Given the description of an element on the screen output the (x, y) to click on. 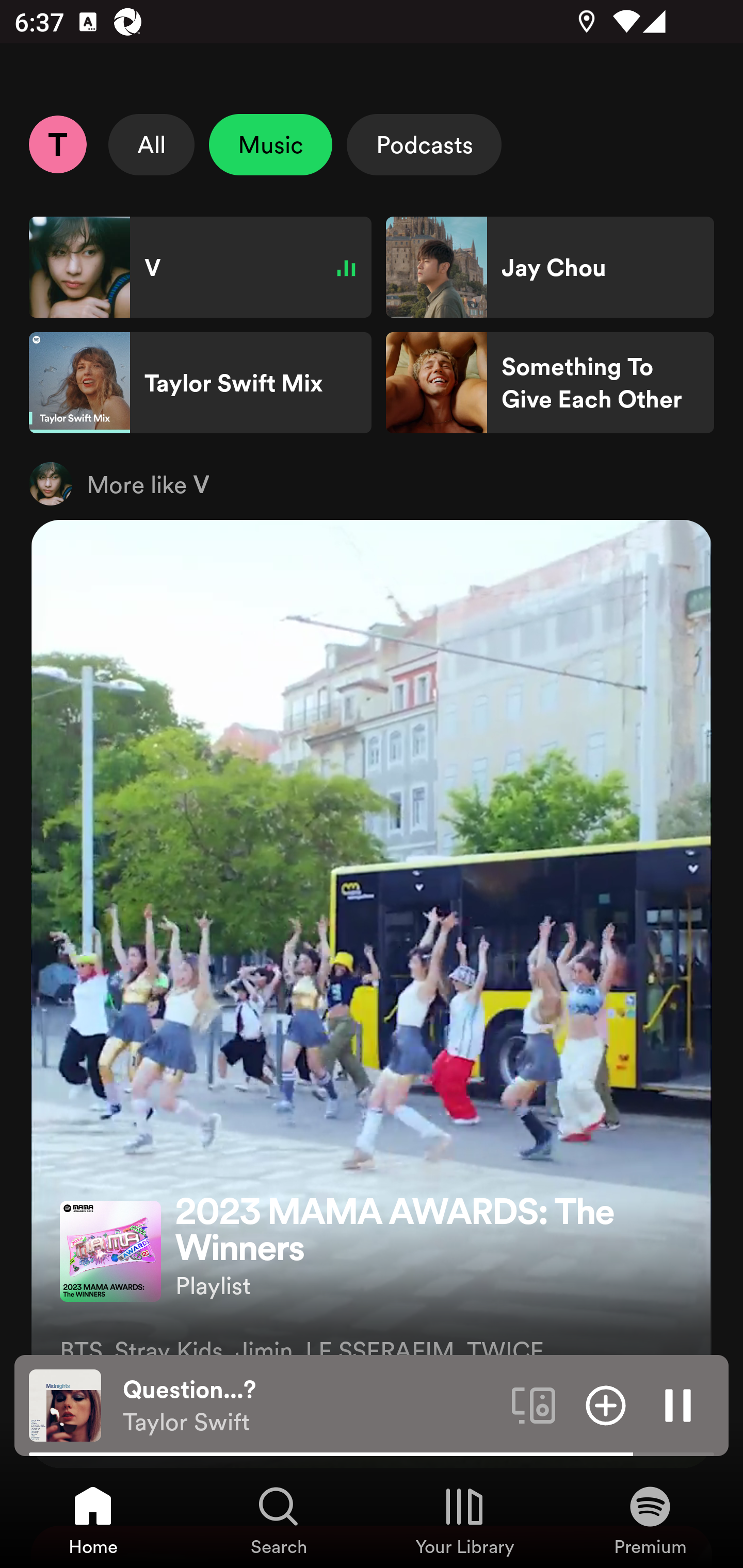
Profile (57, 144)
All Select All (151, 144)
Music Unselect Music (270, 144)
Podcasts Select Podcasts (423, 144)
V Shortcut V Playing (199, 267)
Jay Chou Shortcut Jay Chou (549, 267)
Taylor Swift Mix Shortcut Taylor Swift Mix (199, 382)
More like V (371, 483)
Question...? Taylor Swift (309, 1405)
Add item (80, 1410)
Connect to a device. Opens the devices menu (533, 1404)
Add item (605, 1404)
Pause (677, 1404)
Home, Tab 1 of 4 Home Home (92, 1519)
Search, Tab 2 of 4 Search Search (278, 1519)
Your Library, Tab 3 of 4 Your Library Your Library (464, 1519)
Premium, Tab 4 of 4 Premium Premium (650, 1519)
